Given the description of an element on the screen output the (x, y) to click on. 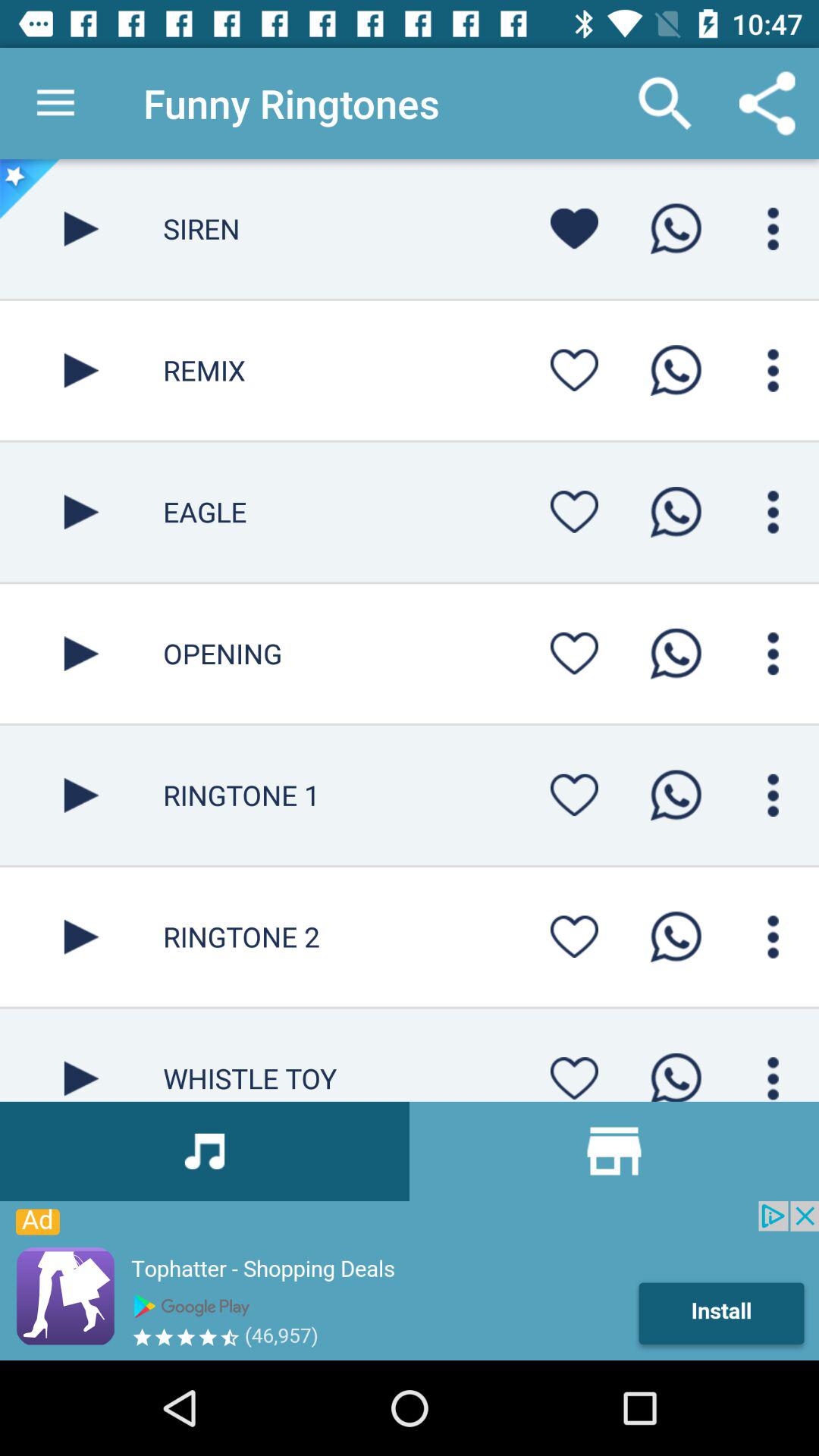
favorite (574, 936)
